Given the description of an element on the screen output the (x, y) to click on. 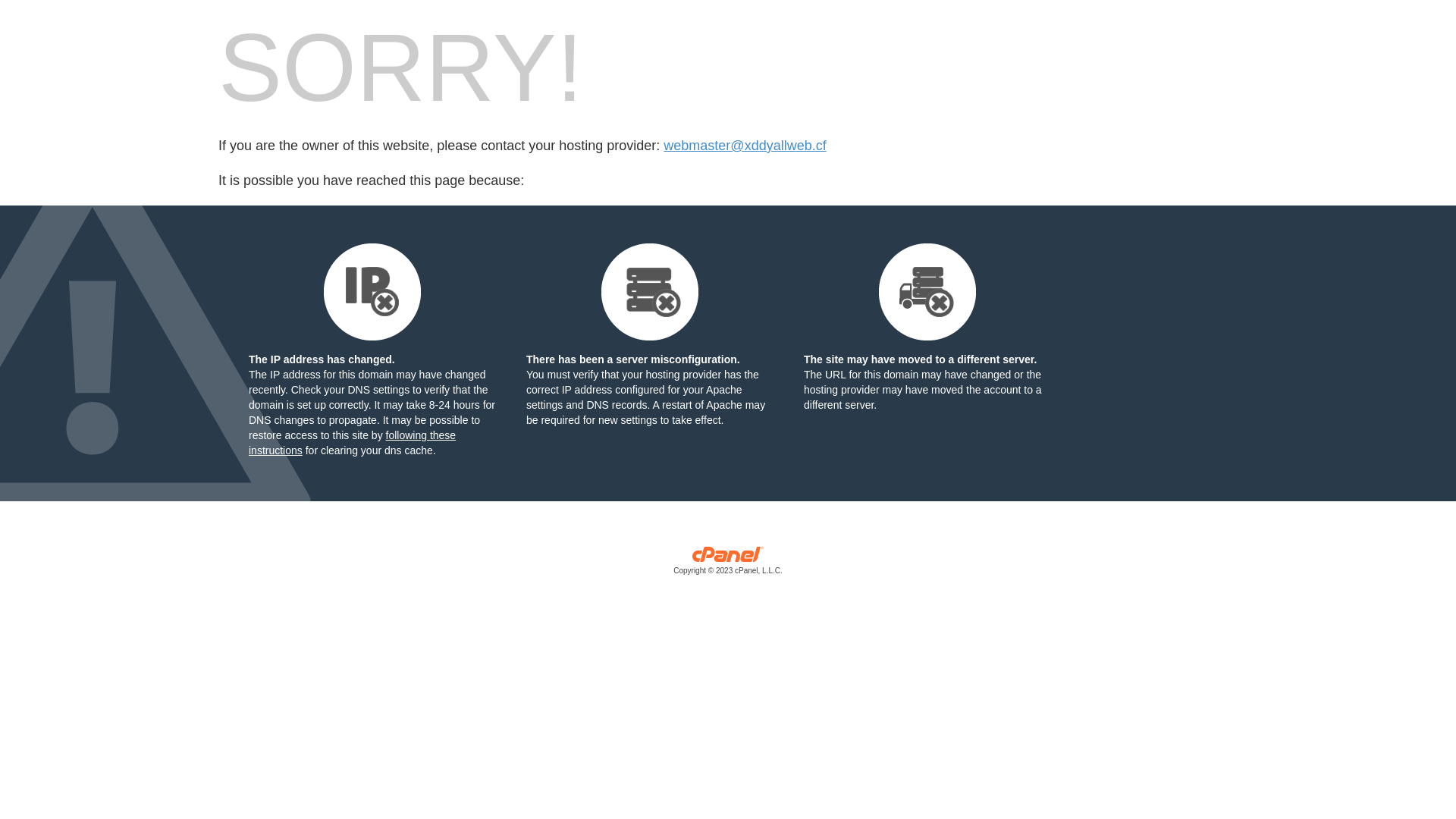
following these instructions Element type: text (351, 442)
webmaster@xddyallweb.cf Element type: text (744, 145)
